Given the description of an element on the screen output the (x, y) to click on. 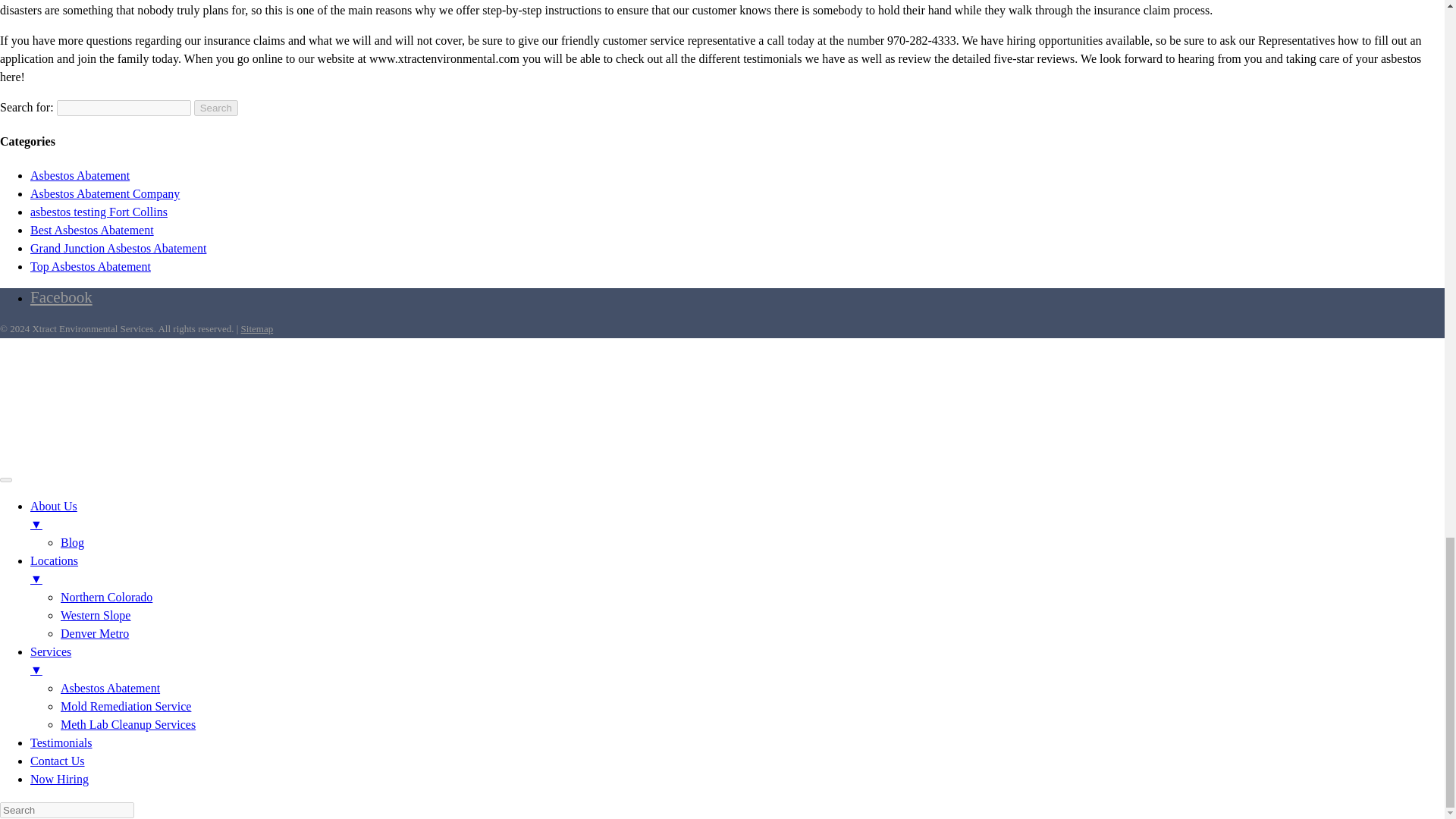
Asbestos Abatement (110, 687)
asbestos testing Fort Collins (98, 211)
Mold Remediation Service (125, 706)
Sitemap (257, 328)
Testimonials (61, 742)
Denver Metro (95, 633)
Search (215, 107)
Top Asbestos Abatement (90, 266)
Western Slope (96, 615)
Blog (72, 542)
Best Asbestos Abatement (92, 229)
Asbestos Abatement (79, 174)
Asbestos Abatement Company (104, 193)
Facebook (61, 297)
Contact Us (57, 760)
